Given the description of an element on the screen output the (x, y) to click on. 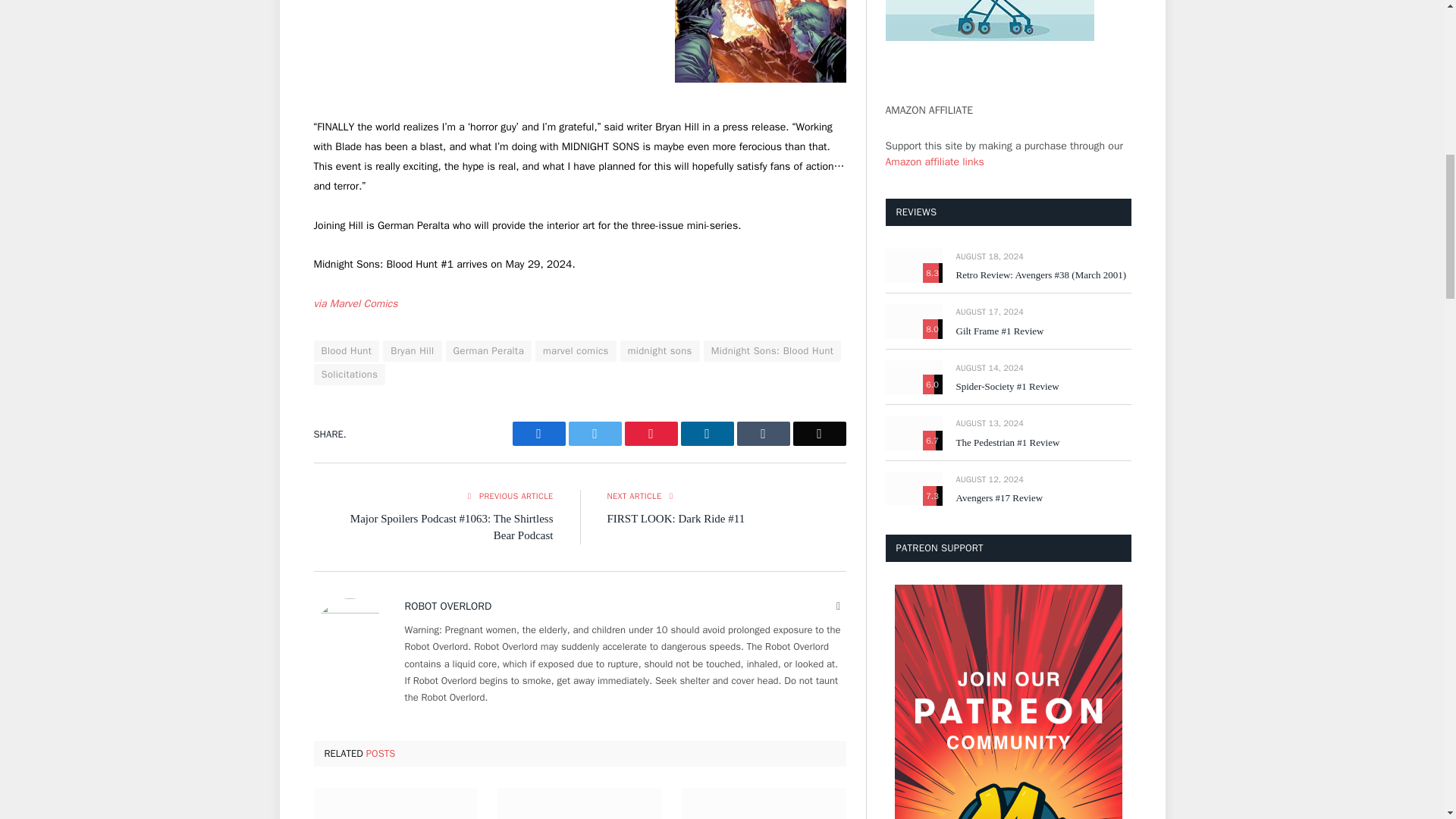
Share on Facebook (539, 433)
Share on Pinterest (651, 433)
Share on Twitter (595, 433)
Share on LinkedIn (707, 433)
